Given the description of an element on the screen output the (x, y) to click on. 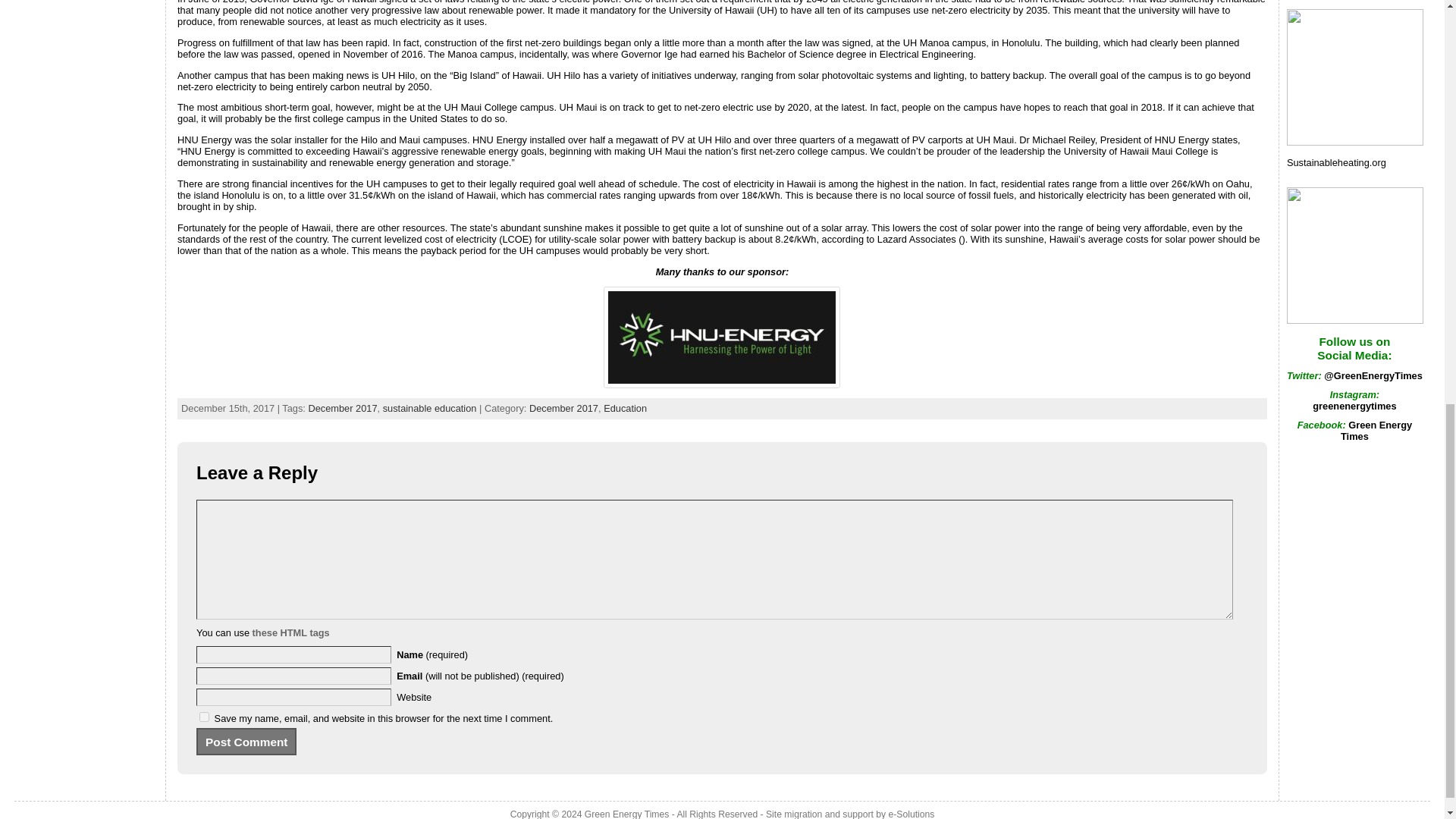
December 2017 (342, 408)
sustainable education (429, 408)
December 2017 (563, 408)
Education (625, 408)
yes (204, 716)
Post Comment (246, 741)
